Given the description of an element on the screen output the (x, y) to click on. 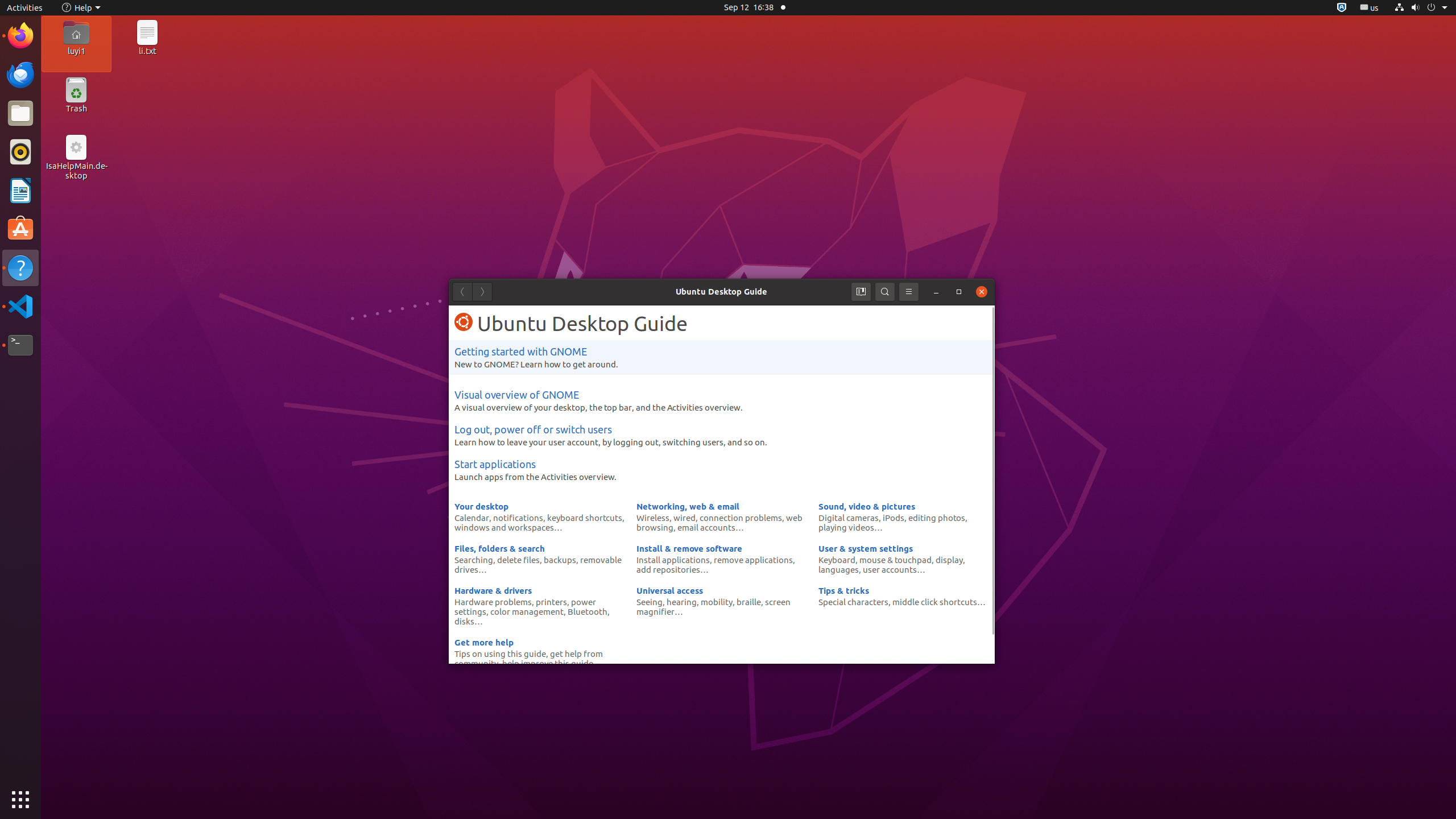
web browsing Element type: link (719, 522)
Sound, video & pictures Element type: link (866, 506)
email accounts Element type: link (706, 527)
windows and workspaces Element type: link (503, 527)
